Given the description of an element on the screen output the (x, y) to click on. 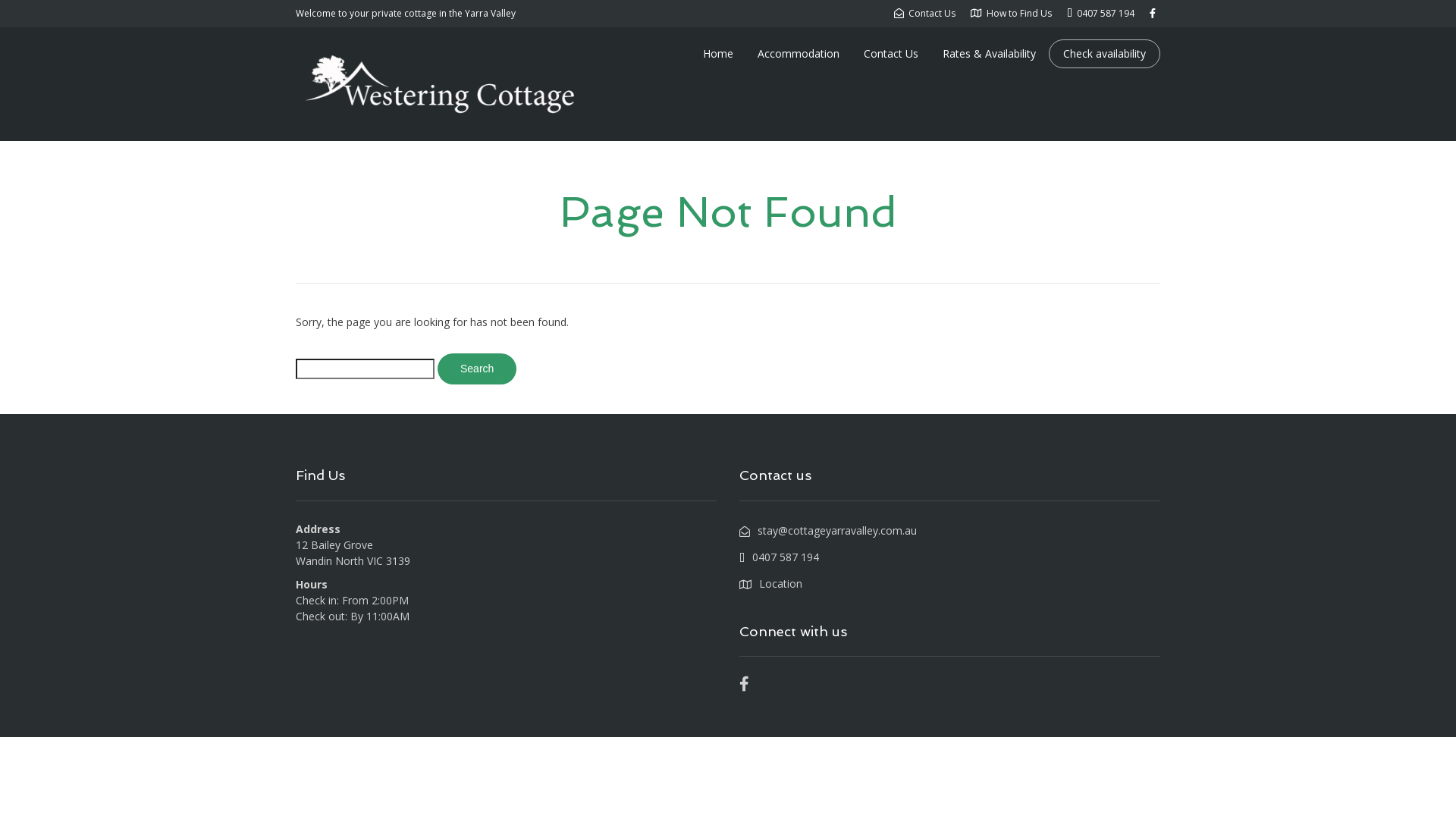
0407 587 194 Element type: text (1100, 12)
Home Element type: text (717, 53)
Rates & Availability Element type: text (988, 53)
Search Element type: text (476, 368)
Contact Us Element type: text (890, 53)
How to Find Us Element type: text (1010, 12)
Location Element type: text (770, 583)
Contact Us Element type: text (924, 12)
Accommodation Element type: text (798, 53)
0407 587 194 Element type: text (779, 556)
Check availability Element type: text (1104, 53)
stay@cottageyarravalley.com.au Element type: text (827, 530)
